Given the description of an element on the screen output the (x, y) to click on. 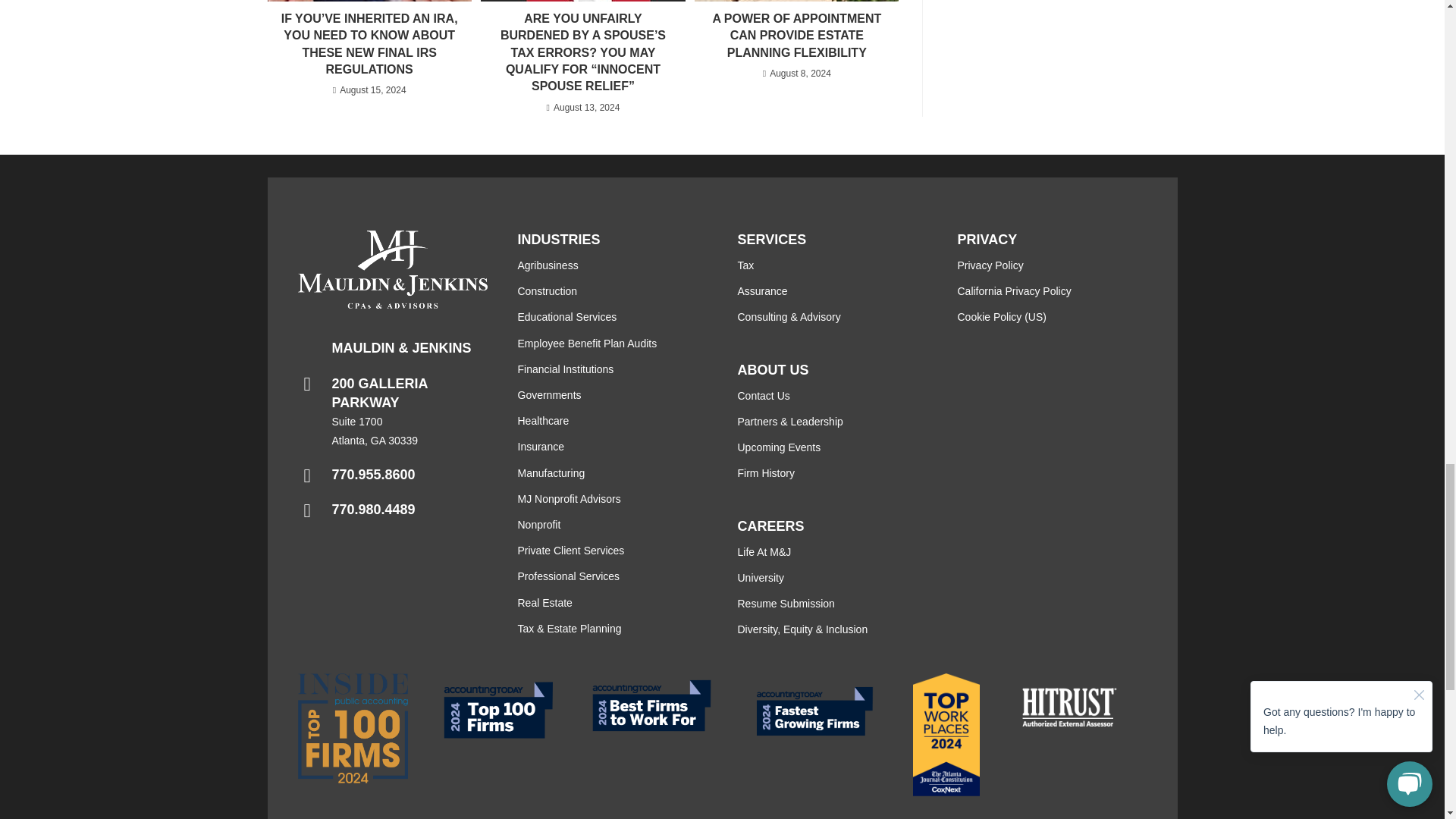
IPA - Award Logo - Top 100 Firms (352, 728)
AT-Fastest Growing Firms-Logo-2024 (813, 711)
AT-Top 100 Firms-Logo-2024 (497, 709)
AT-Best Firms to Work For-Logo-2024 (652, 705)
